Given the description of an element on the screen output the (x, y) to click on. 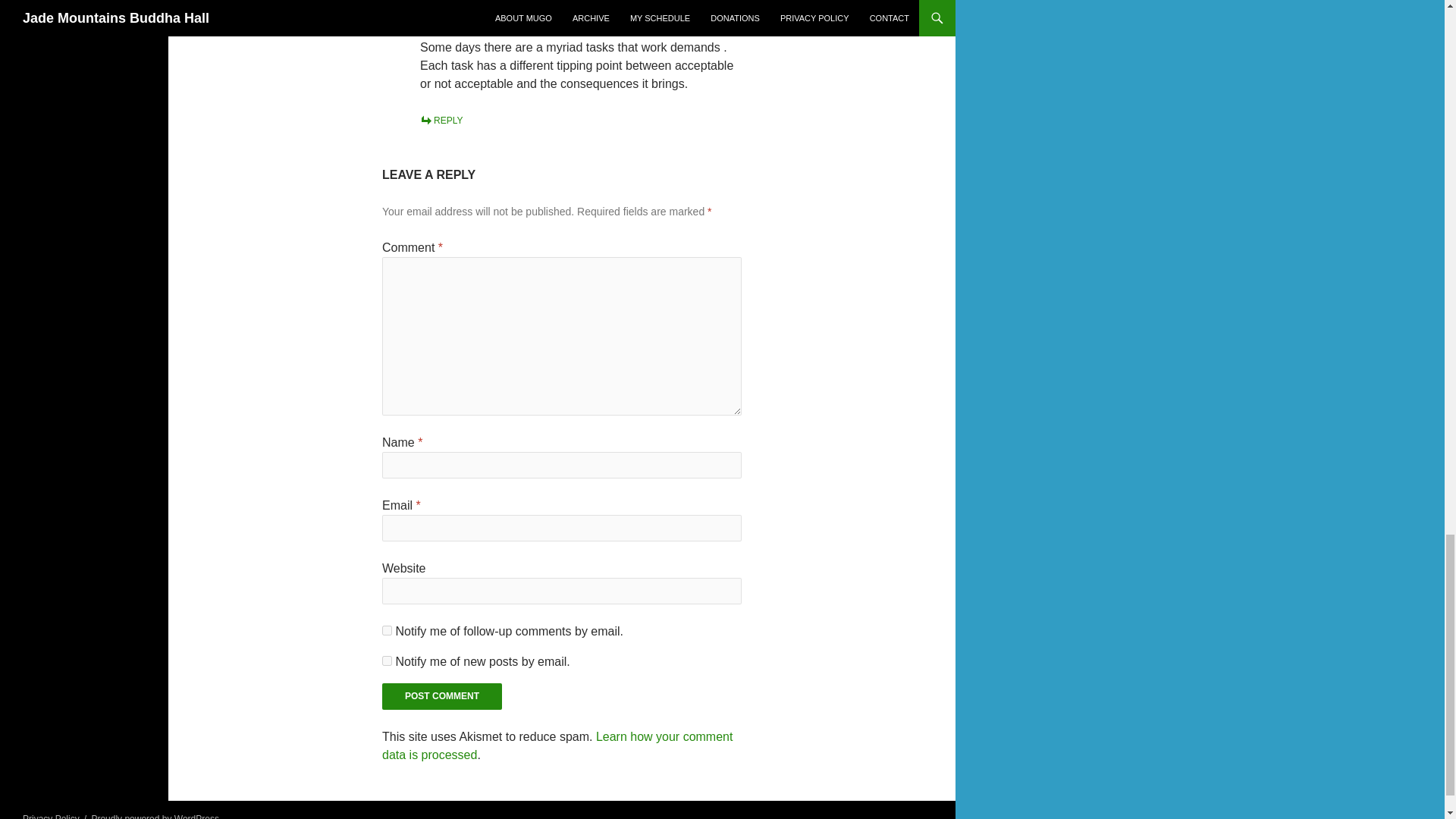
Post Comment (441, 696)
subscribe (386, 630)
subscribe (386, 660)
Learn how your comment data is processed (556, 745)
REPLY (441, 120)
Post Comment (441, 696)
